Given the description of an element on the screen output the (x, y) to click on. 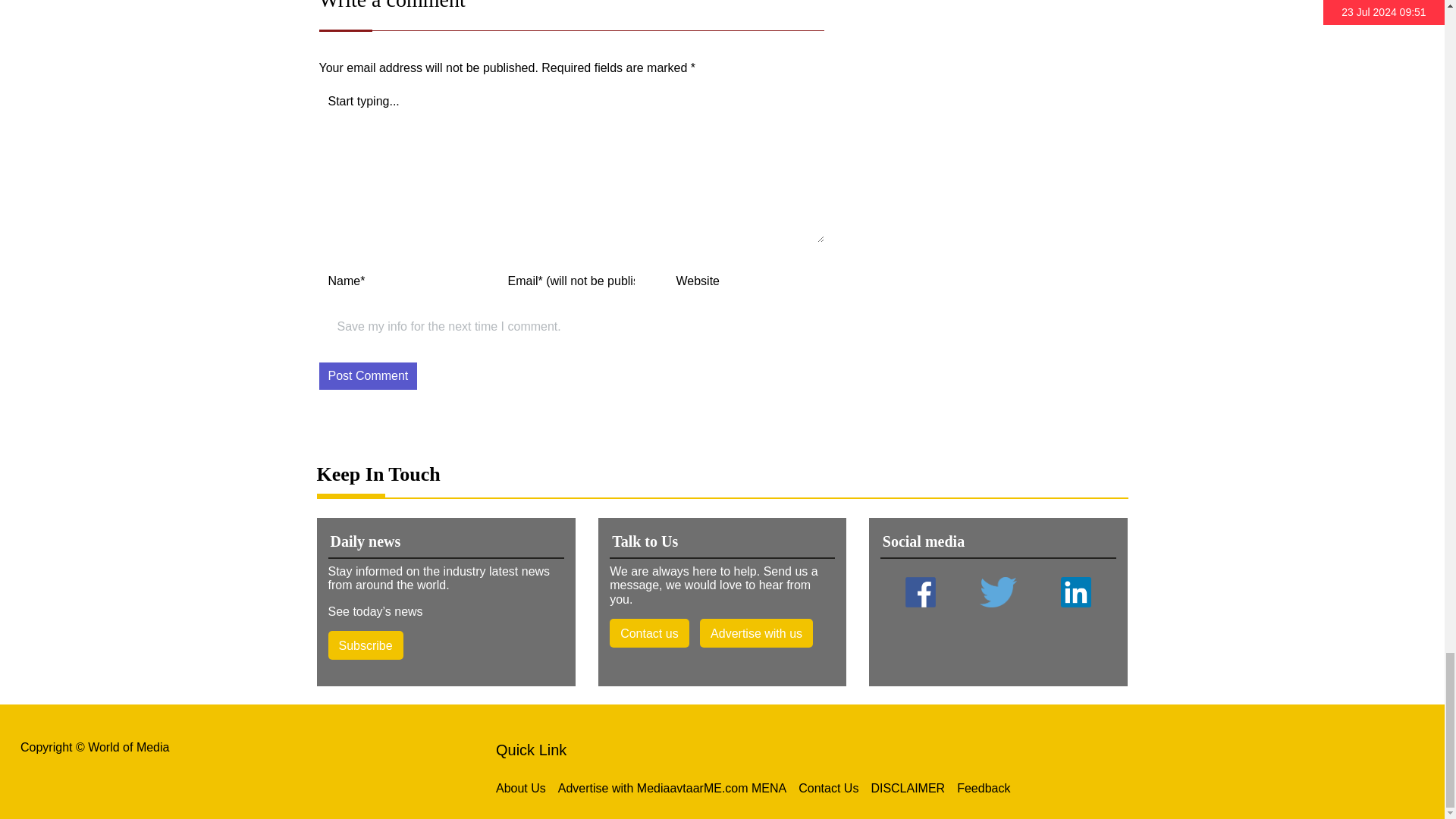
yes (324, 328)
Post Comment (367, 375)
